Given the description of an element on the screen output the (x, y) to click on. 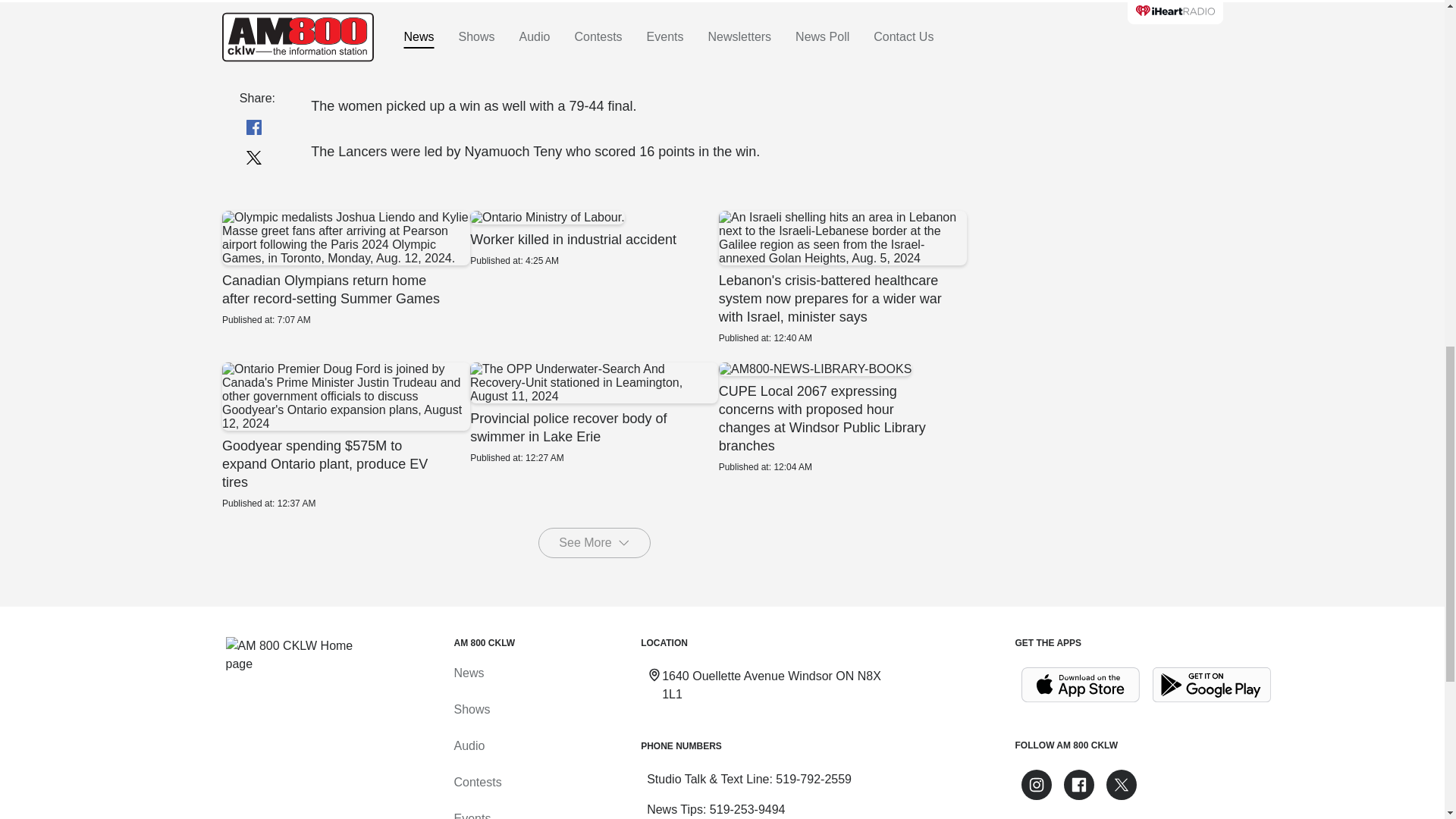
See More (593, 238)
Download on the App Store (593, 542)
Shows (1080, 684)
519-253-9494 (470, 708)
Provincial police recover body of swimmer in Lake Erie (748, 809)
Audio (593, 413)
